Given the description of an element on the screen output the (x, y) to click on. 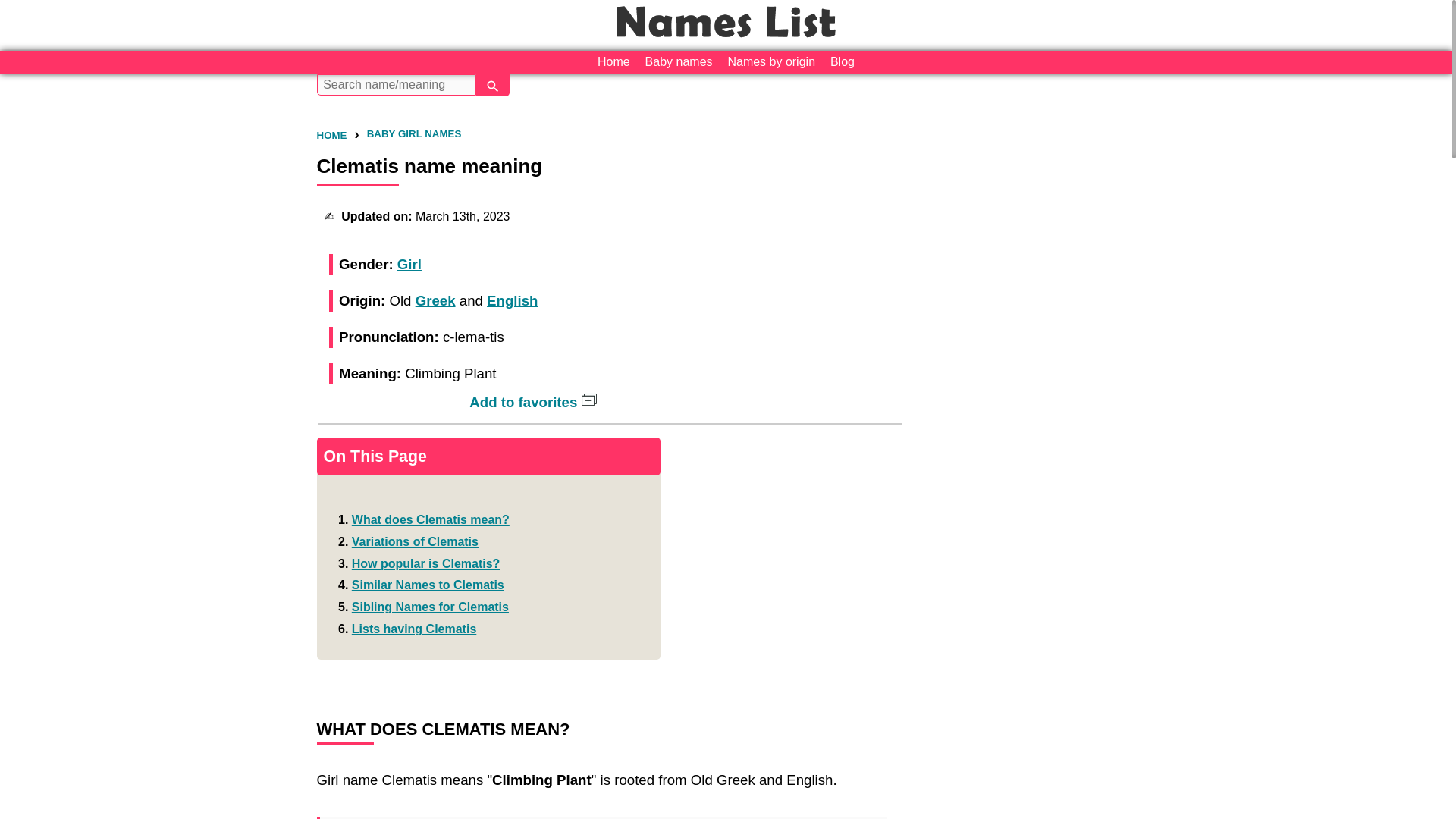
What does Clematis mean? (430, 519)
Baby names (679, 61)
Girl (409, 263)
Home (613, 61)
Names by origin (770, 61)
Sibling Names for Clematis (430, 606)
Blog (842, 61)
BABY GIRL NAMES (413, 133)
Variations of Clematis (415, 541)
Greek (434, 300)
